Given the description of an element on the screen output the (x, y) to click on. 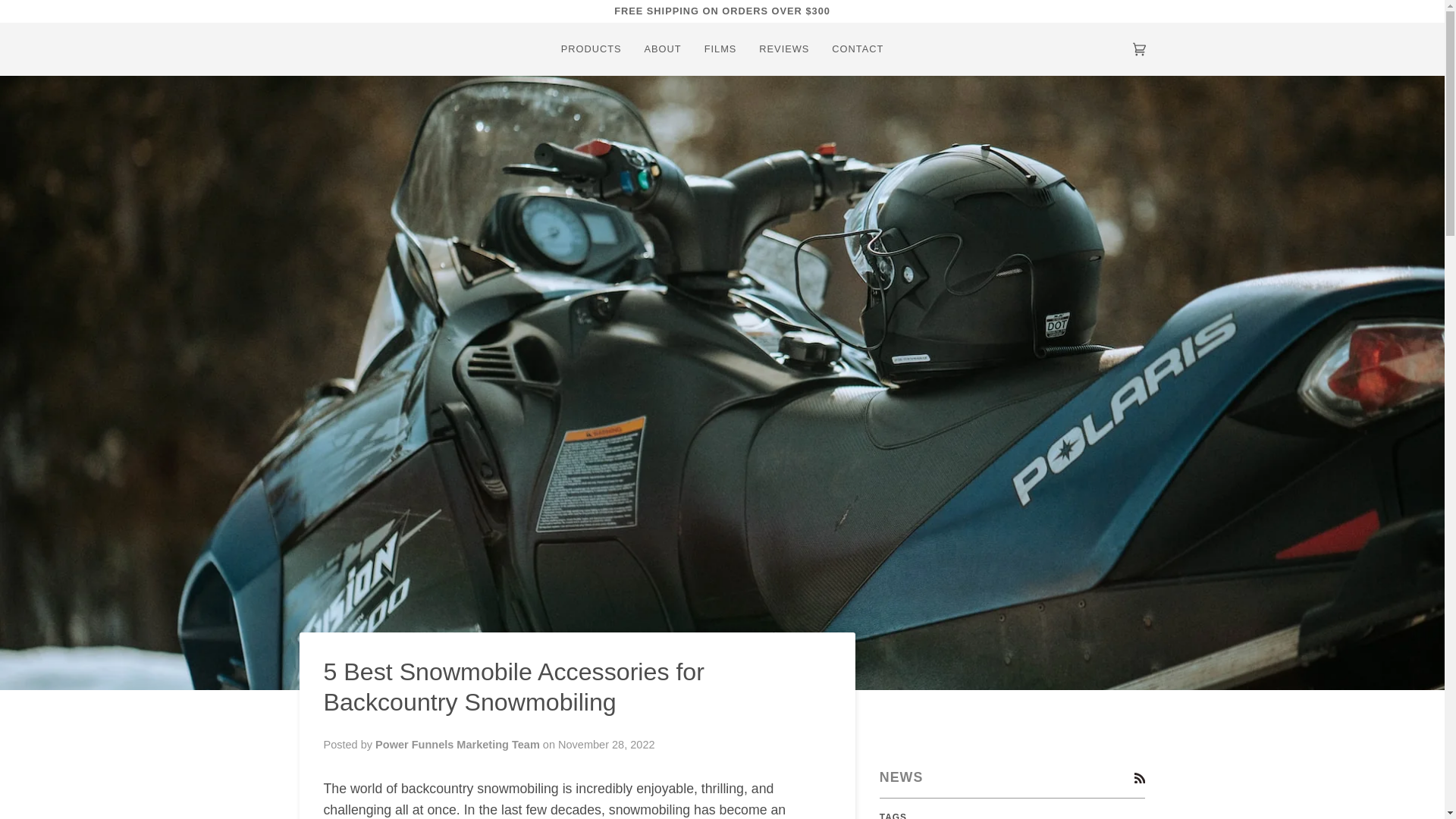
ABOUT (663, 49)
PRODUCTS (591, 49)
FILMS (720, 49)
CONTACT (858, 49)
REVIEWS (784, 49)
